Given the description of an element on the screen output the (x, y) to click on. 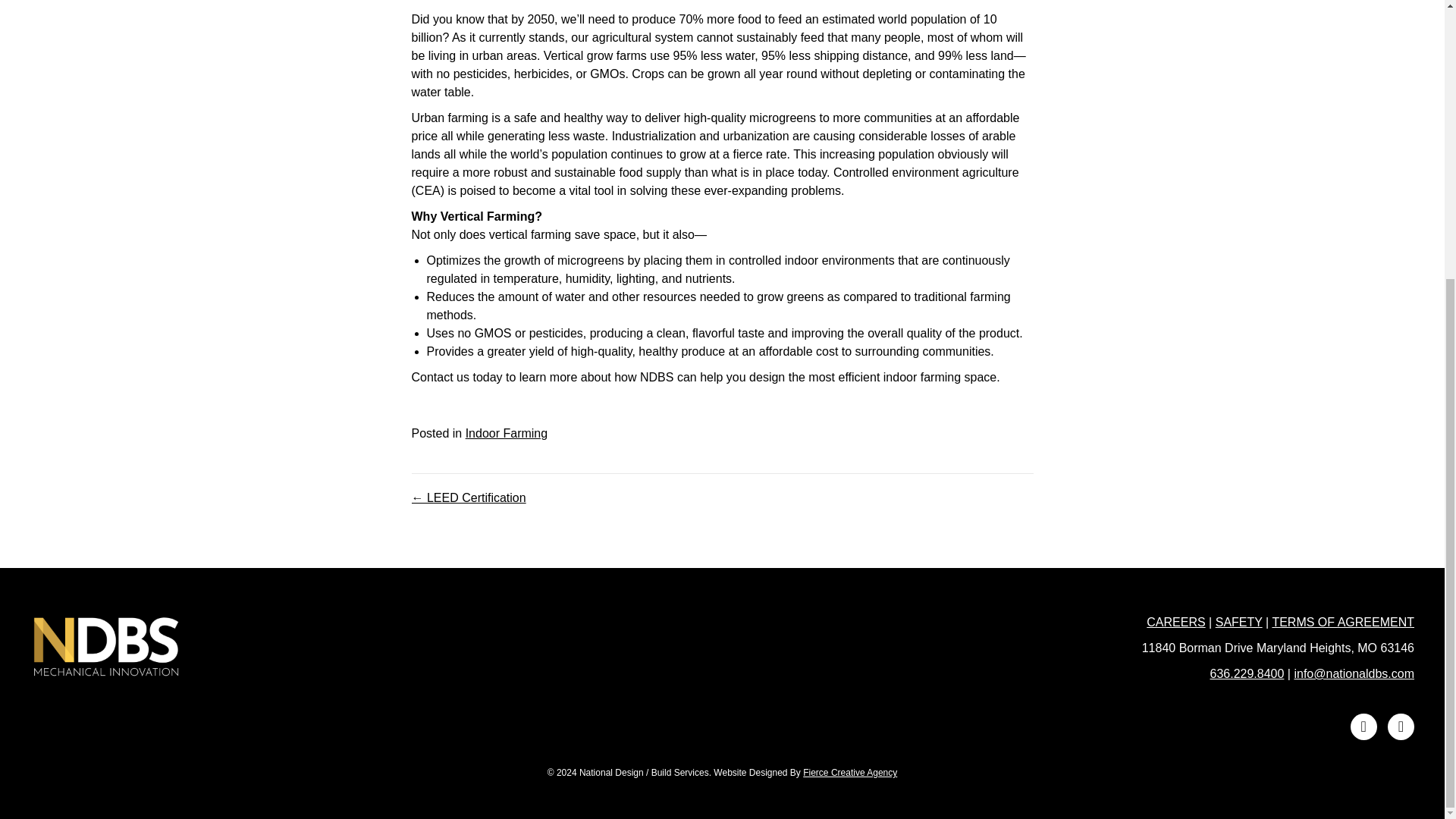
Indoor Farming (506, 432)
636.229.8400 (1246, 673)
CAREERS (1176, 621)
TERMS OF AGREEMENT (1342, 621)
SAFETY (1238, 621)
Fierce Creative Agency (849, 772)
